Given the description of an element on the screen output the (x, y) to click on. 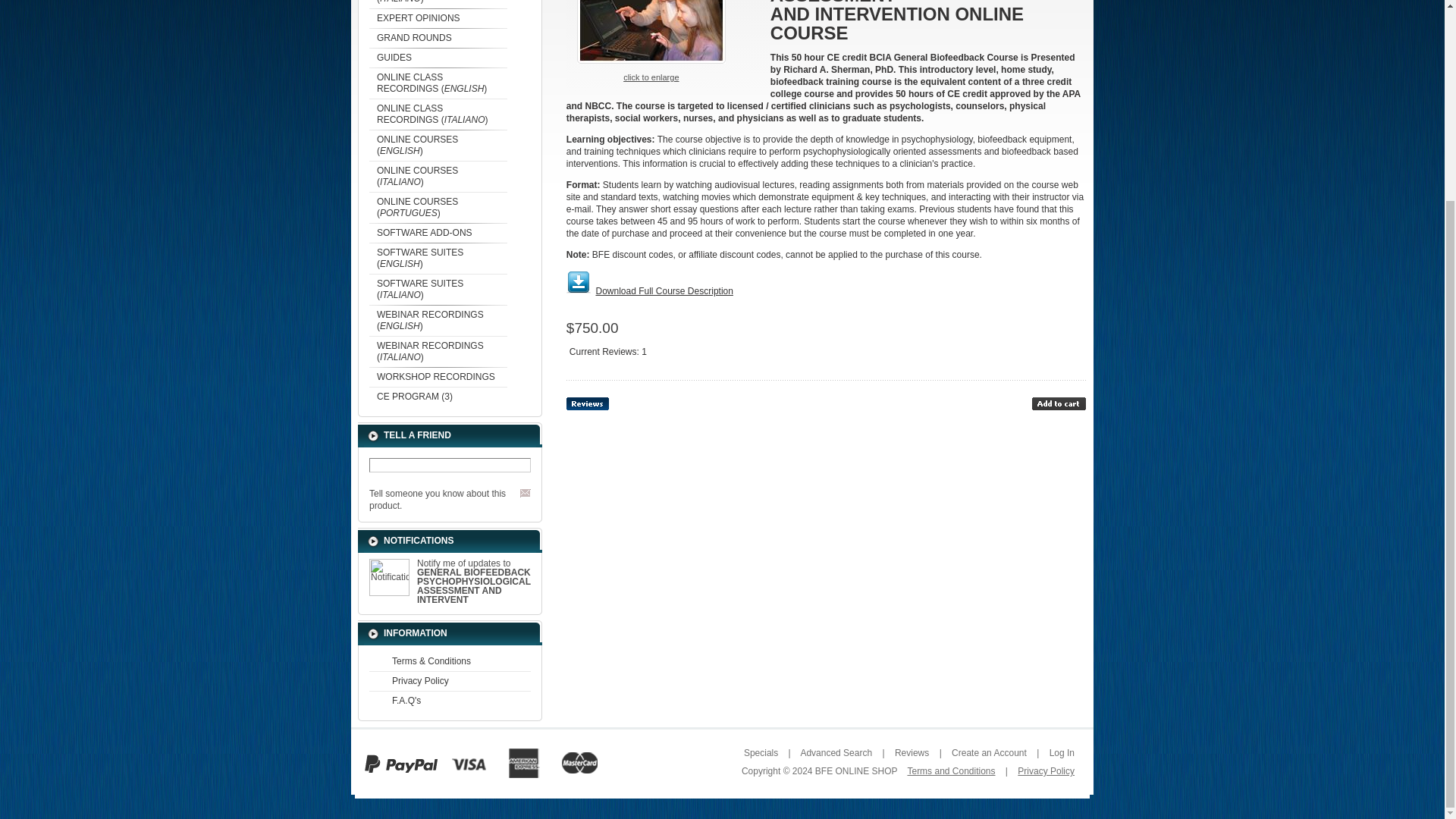
GUIDES (437, 57)
 Reviews  (587, 403)
WORKSHOP RECORDINGS (437, 376)
 Tell A Friend  (525, 492)
 Notifications  (389, 577)
EXPERT OPINIONS (437, 17)
F.A.Q's (450, 700)
Privacy Policy (450, 680)
